Given the description of an element on the screen output the (x, y) to click on. 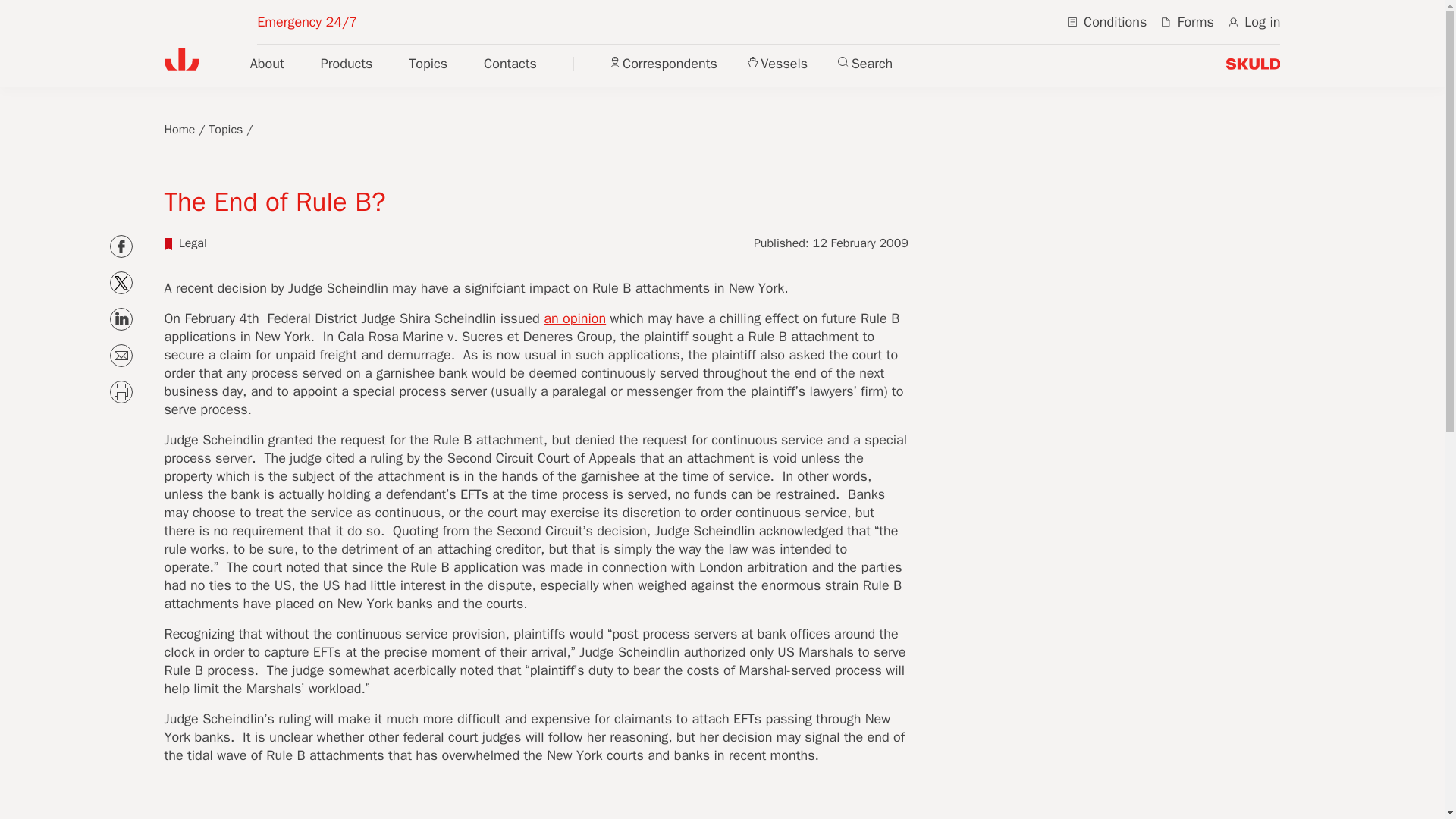
Skuld.com (1252, 64)
Skuld.com (180, 58)
Home (179, 129)
About (266, 63)
Show search form (865, 63)
Topics (225, 129)
Conditions (1107, 21)
Forms (1187, 21)
Log in (1254, 21)
